Given the description of an element on the screen output the (x, y) to click on. 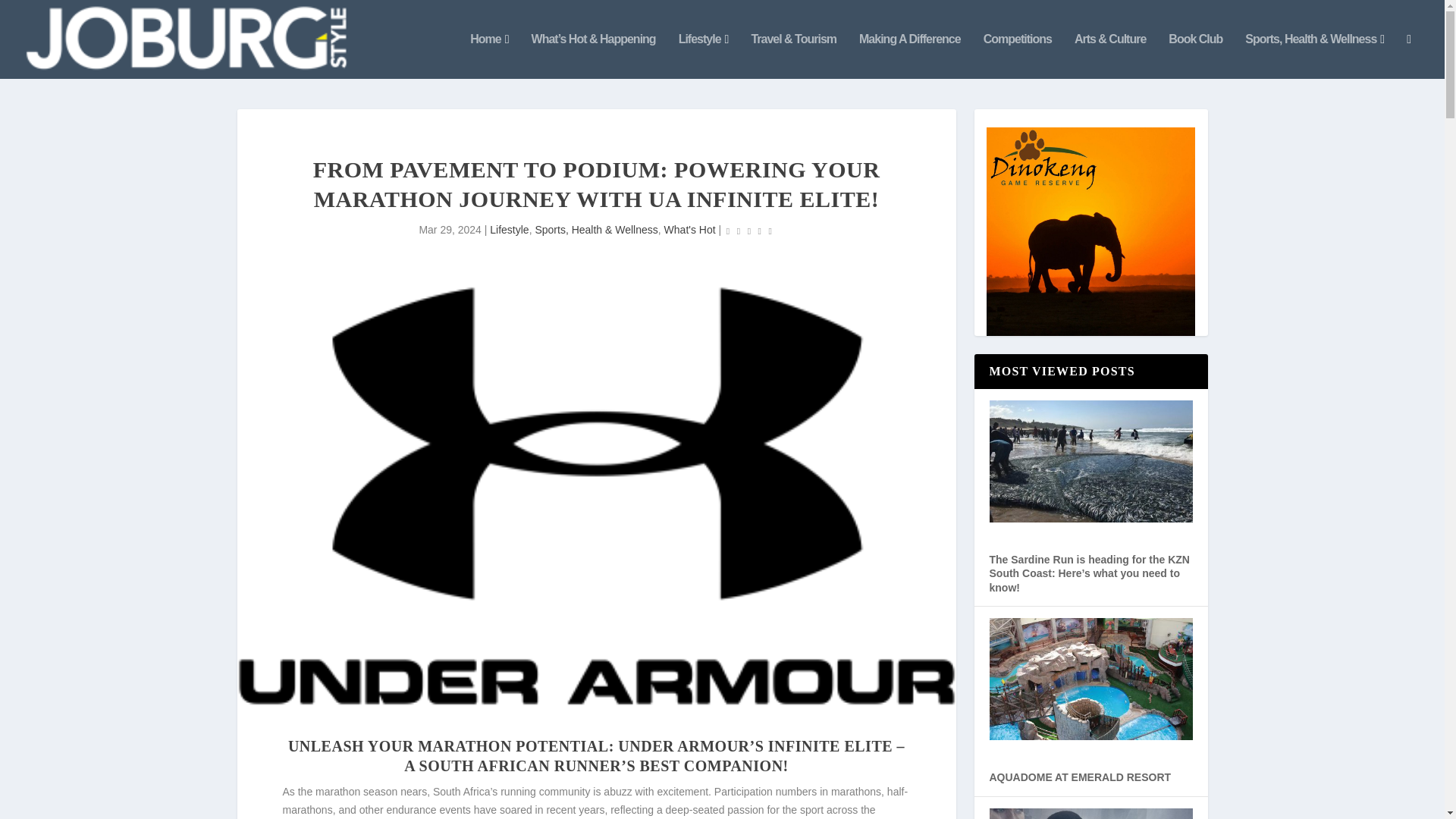
Rating: 0.00 (748, 230)
What's Hot (689, 229)
Competitions (1017, 55)
Lifestyle (703, 55)
Making A Difference (909, 55)
Lifestyle (508, 229)
Book Club (1196, 55)
